Given the description of an element on the screen output the (x, y) to click on. 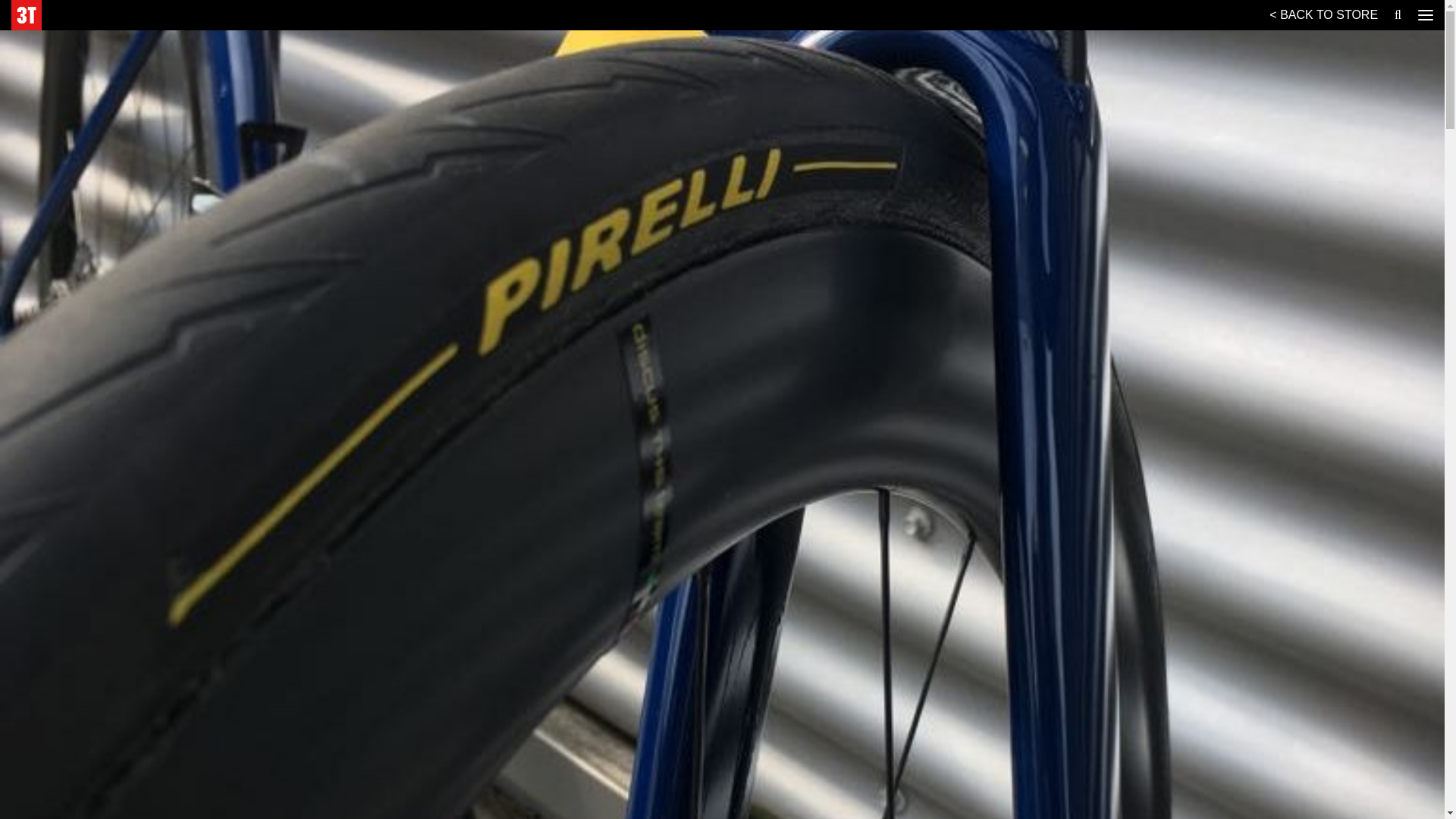
Back to store (1323, 15)
3T Blog (26, 15)
Navigation (1425, 14)
